Given the description of an element on the screen output the (x, y) to click on. 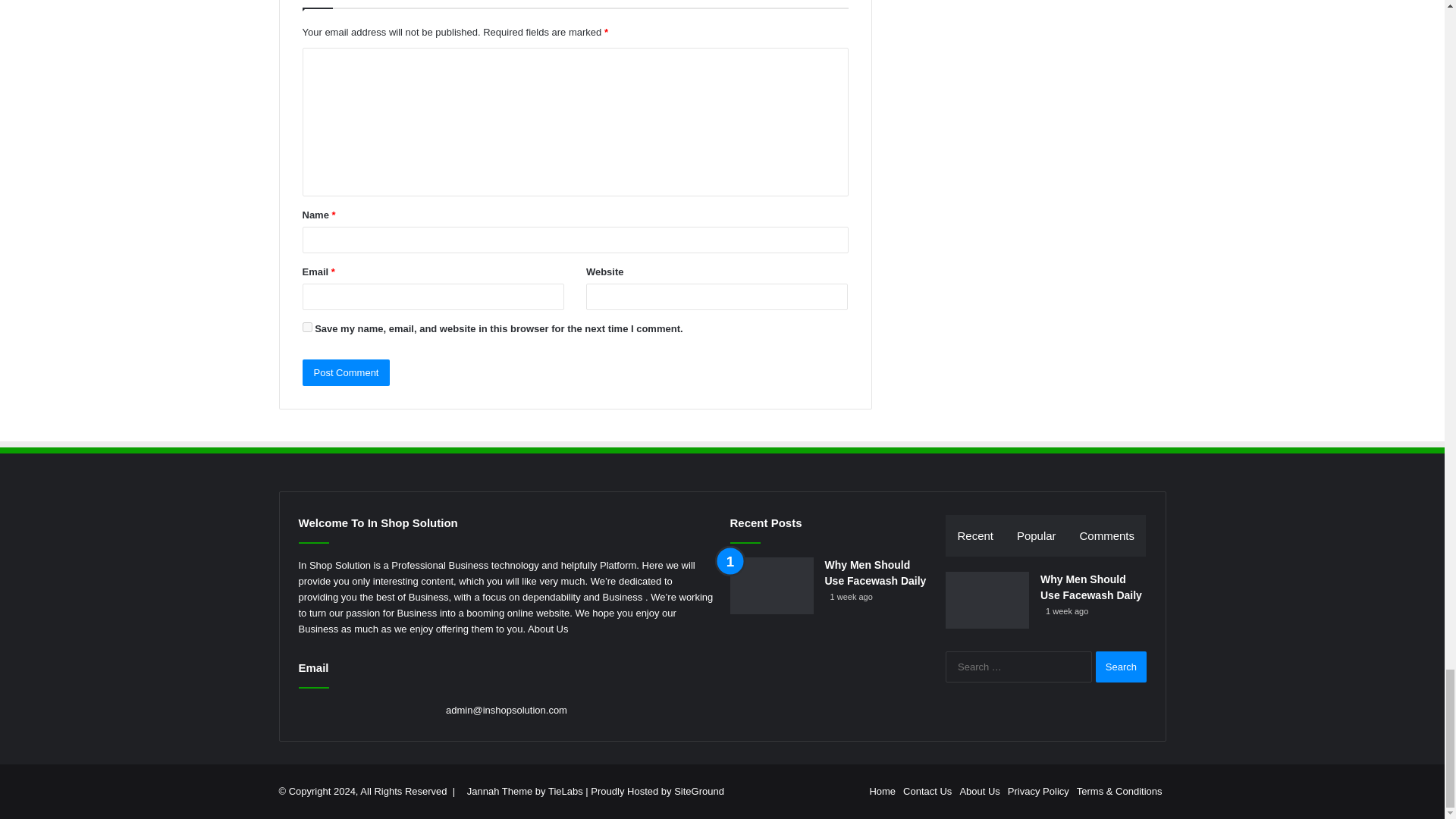
yes (306, 327)
Search (1120, 666)
Search (1120, 666)
Post Comment (345, 372)
